Given the description of an element on the screen output the (x, y) to click on. 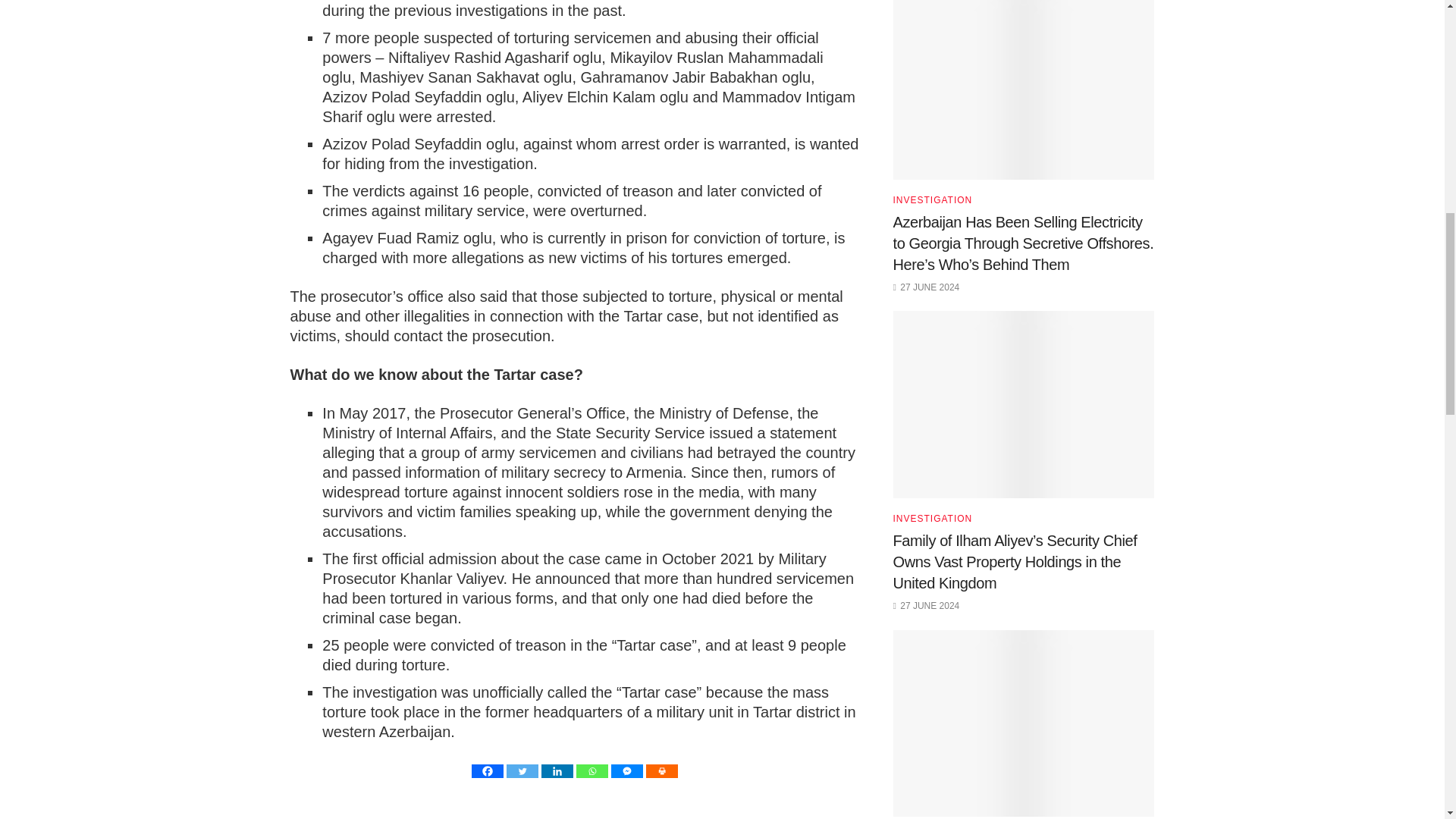
Whatsapp (592, 771)
Print (662, 771)
Facebook (487, 771)
Twitter (522, 771)
Linkedin (557, 771)
